Given the description of an element on the screen output the (x, y) to click on. 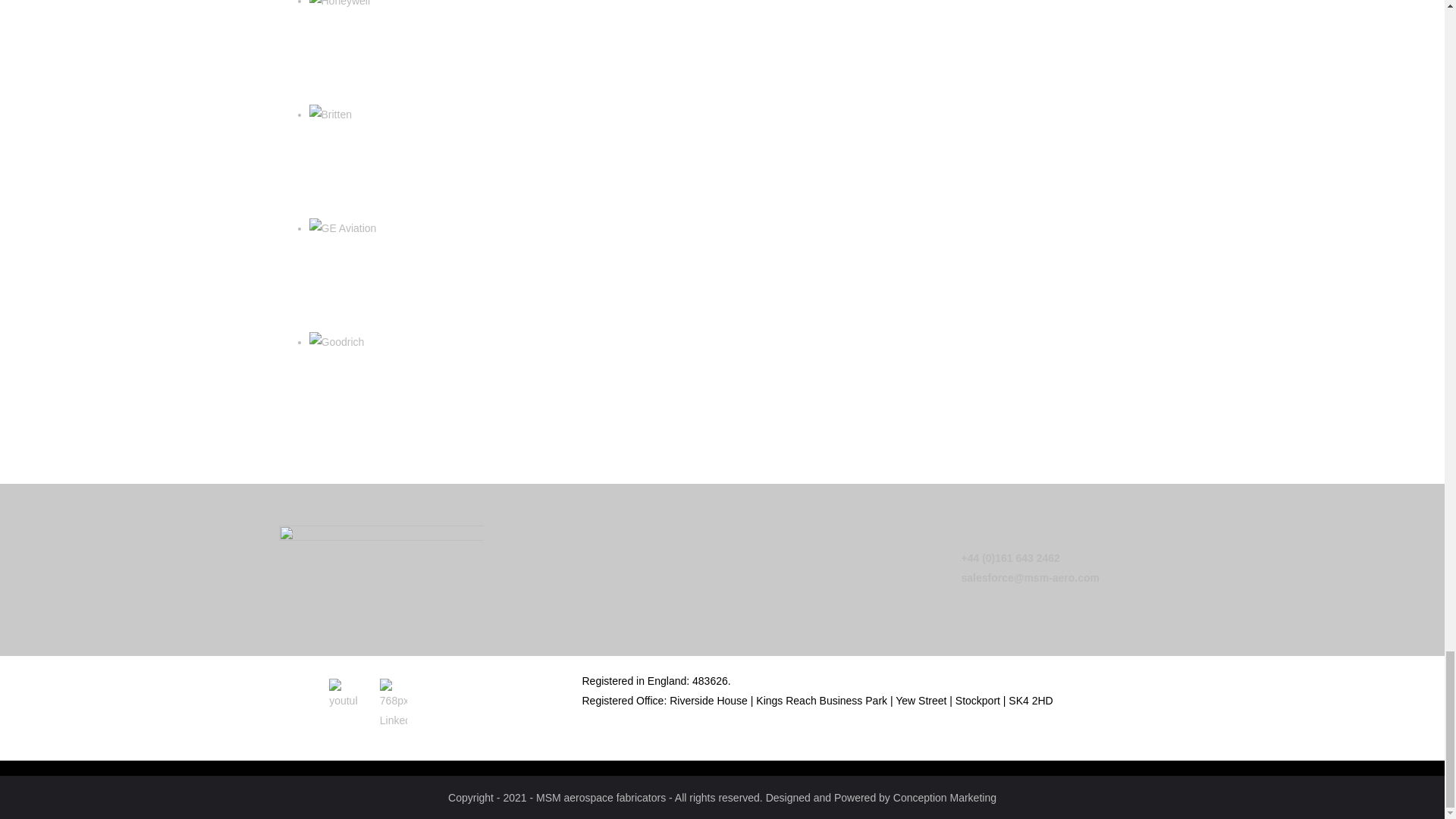
Britten (330, 114)
Honeywell (339, 5)
GE Aviation (342, 228)
Goodrich (336, 342)
